Given the description of an element on the screen output the (x, y) to click on. 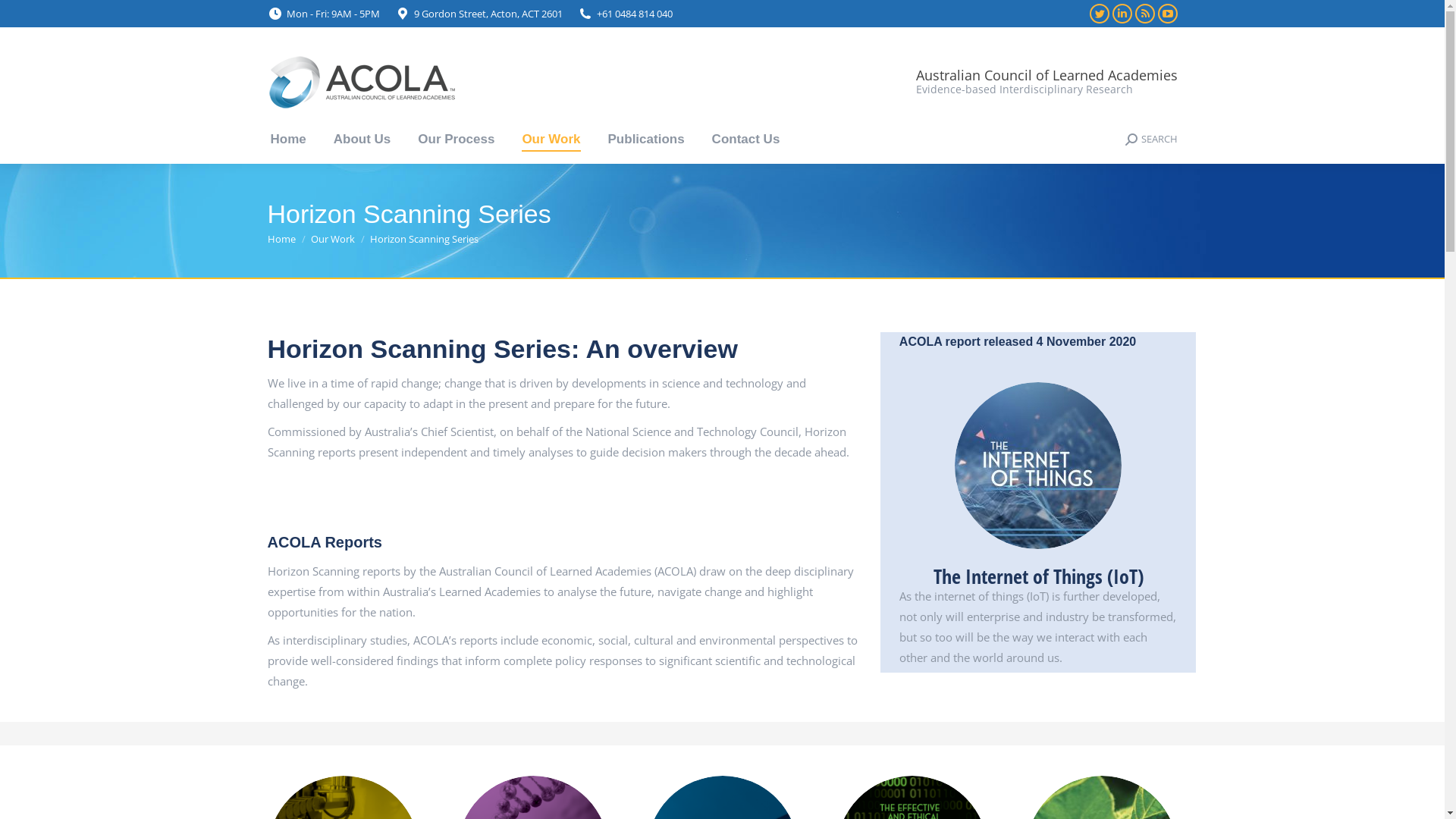
Home Element type: text (287, 139)
Our Work Element type: text (550, 139)
Our Process Element type: text (455, 139)
Twitter page opens in new window Element type: text (1098, 13)
Contact Us Element type: text (746, 139)
Our Work Element type: text (332, 238)
About Us Element type: text (362, 139)
Home Element type: text (280, 238)
The Internet of Things (IoT) Element type: text (1038, 576)
Rss page opens in new window Element type: text (1144, 13)
Publications Element type: text (646, 139)
Go! Element type: text (24, 16)
SEARCH Element type: text (1151, 138)
Linkedin page opens in new window Element type: text (1121, 13)
YouTube page opens in new window Element type: text (1166, 13)
